Given the description of an element on the screen output the (x, y) to click on. 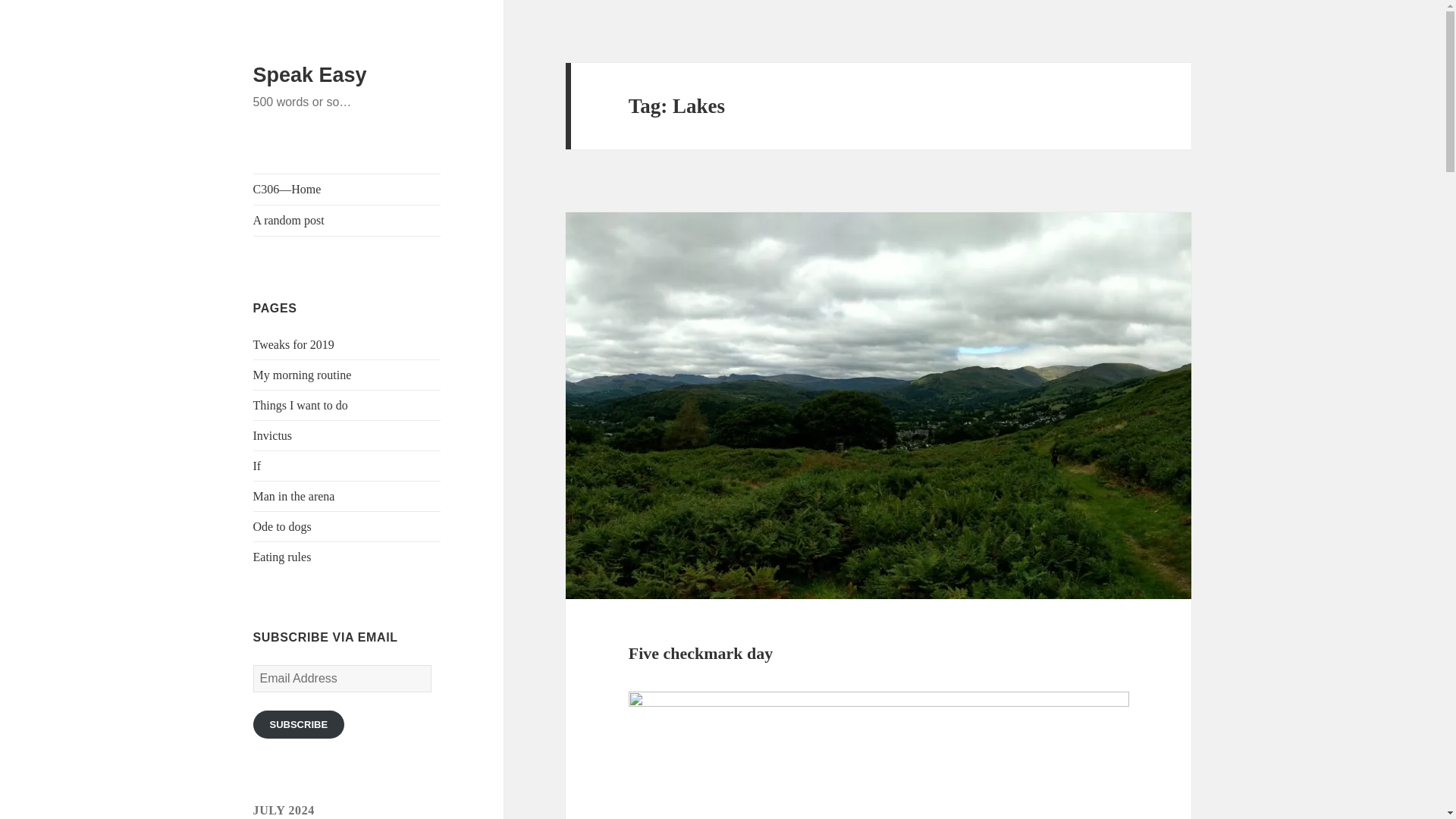
A random post (347, 220)
Ode to dogs (282, 526)
Eating rules (282, 556)
Things I want to do (300, 404)
Man in the arena (293, 495)
My morning routine (302, 374)
Five checkmark day (700, 652)
Tweaks for 2019 (293, 344)
SUBSCRIBE (299, 724)
Speak Easy (309, 74)
Invictus (272, 435)
